Given the description of an element on the screen output the (x, y) to click on. 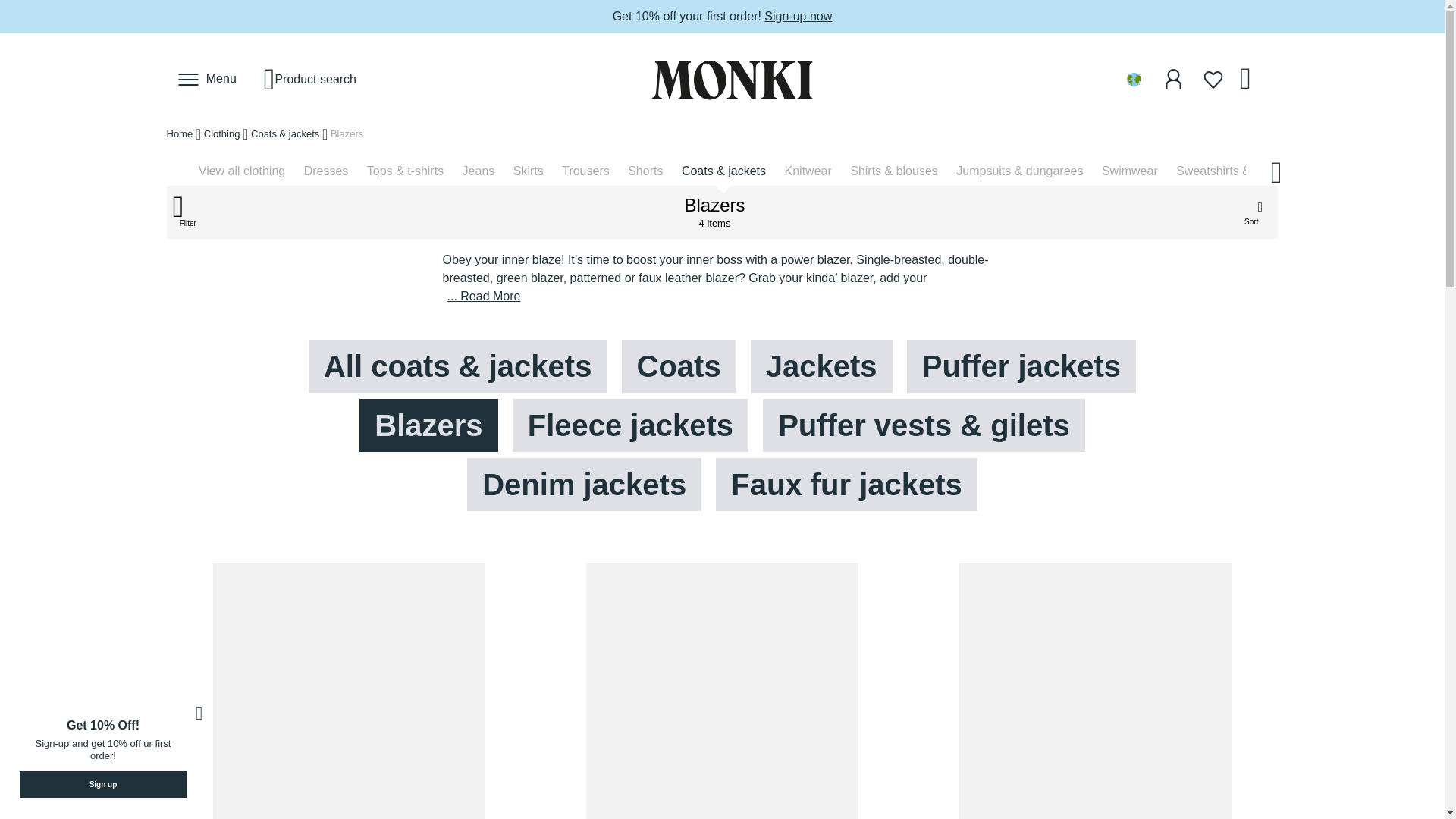
Monki Logo Medium (721, 79)
Monki Logo Medium (732, 79)
Menu (207, 78)
Sign up (103, 784)
